Given the description of an element on the screen output the (x, y) to click on. 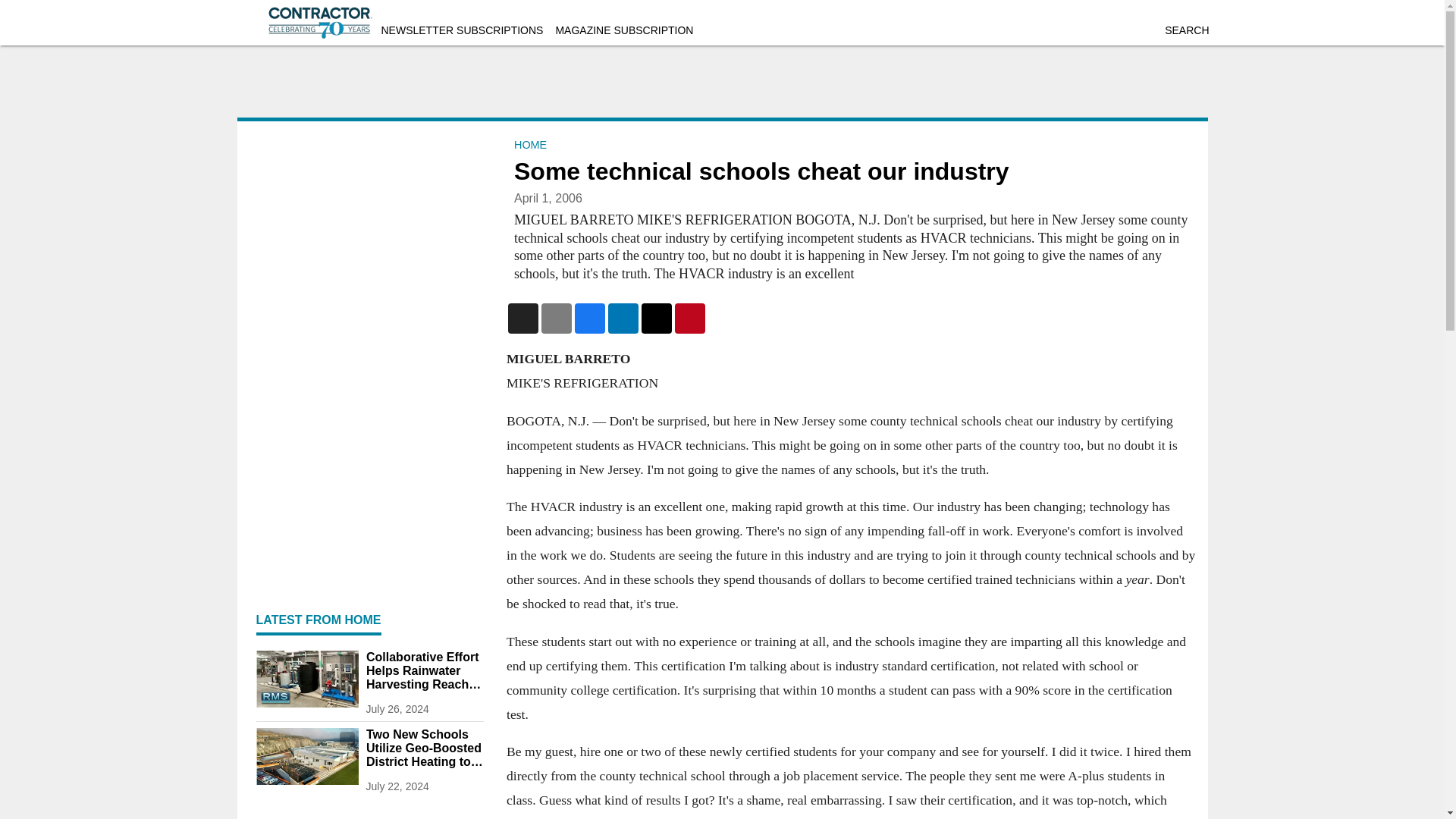
HOME (530, 144)
MAGAZINE SUBSCRIPTION (623, 30)
NEWSLETTER SUBSCRIPTIONS (461, 30)
SEARCH (1186, 30)
